Given the description of an element on the screen output the (x, y) to click on. 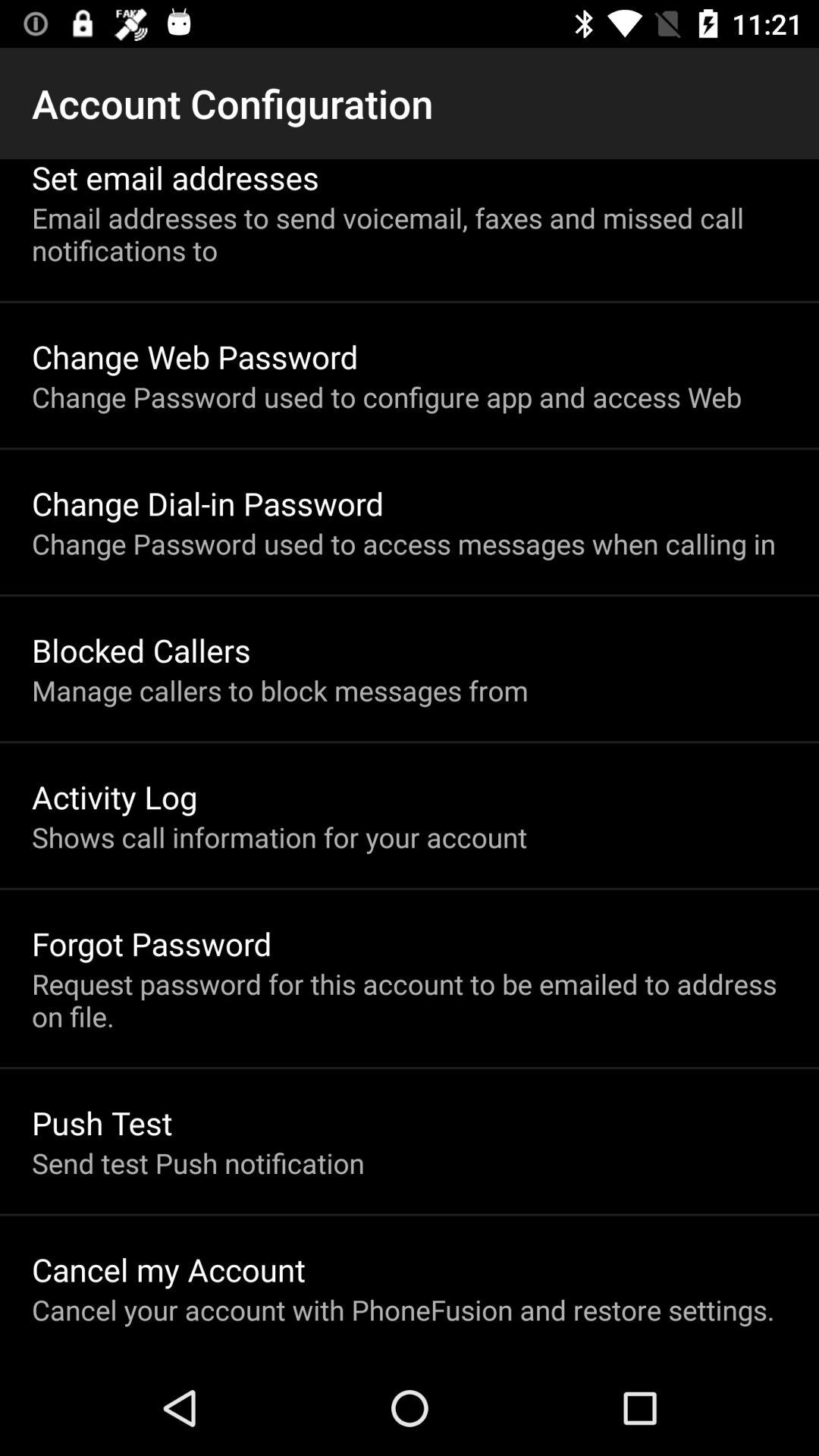
turn on the item above request password for app (151, 943)
